Given the description of an element on the screen output the (x, y) to click on. 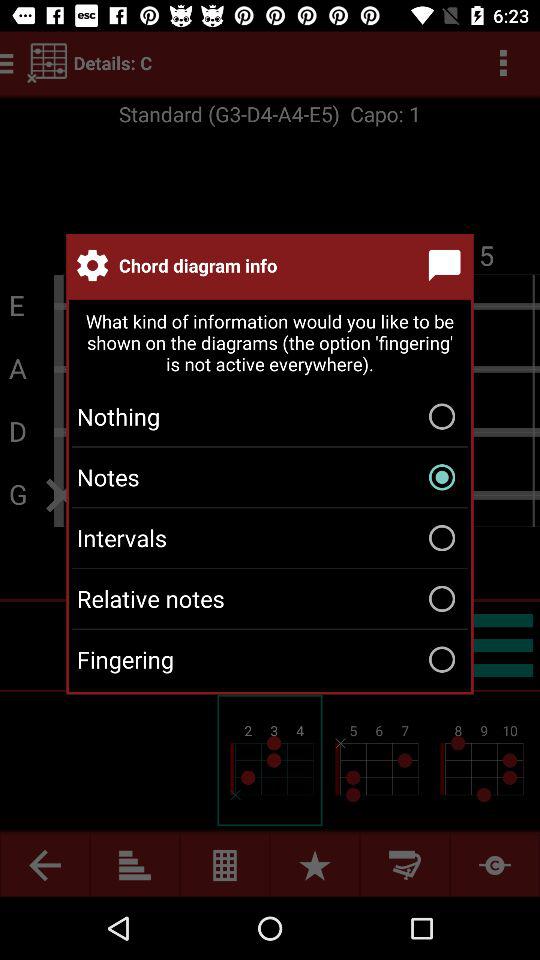
turn off the item below intervals item (269, 598)
